Given the description of an element on the screen output the (x, y) to click on. 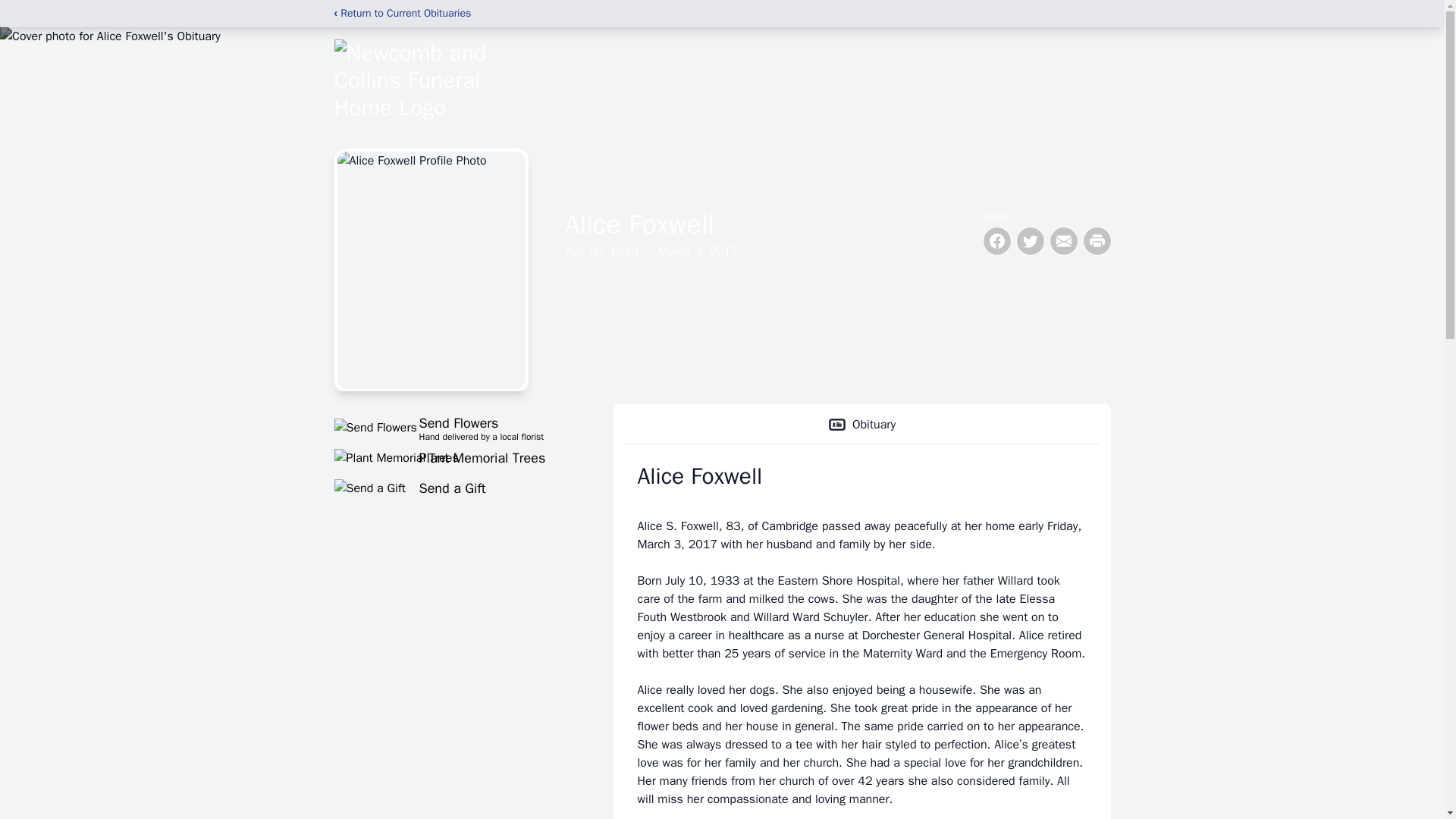
Obituary (860, 425)
Send a Gift (454, 488)
Plant Memorial Trees (454, 457)
